Given the description of an element on the screen output the (x, y) to click on. 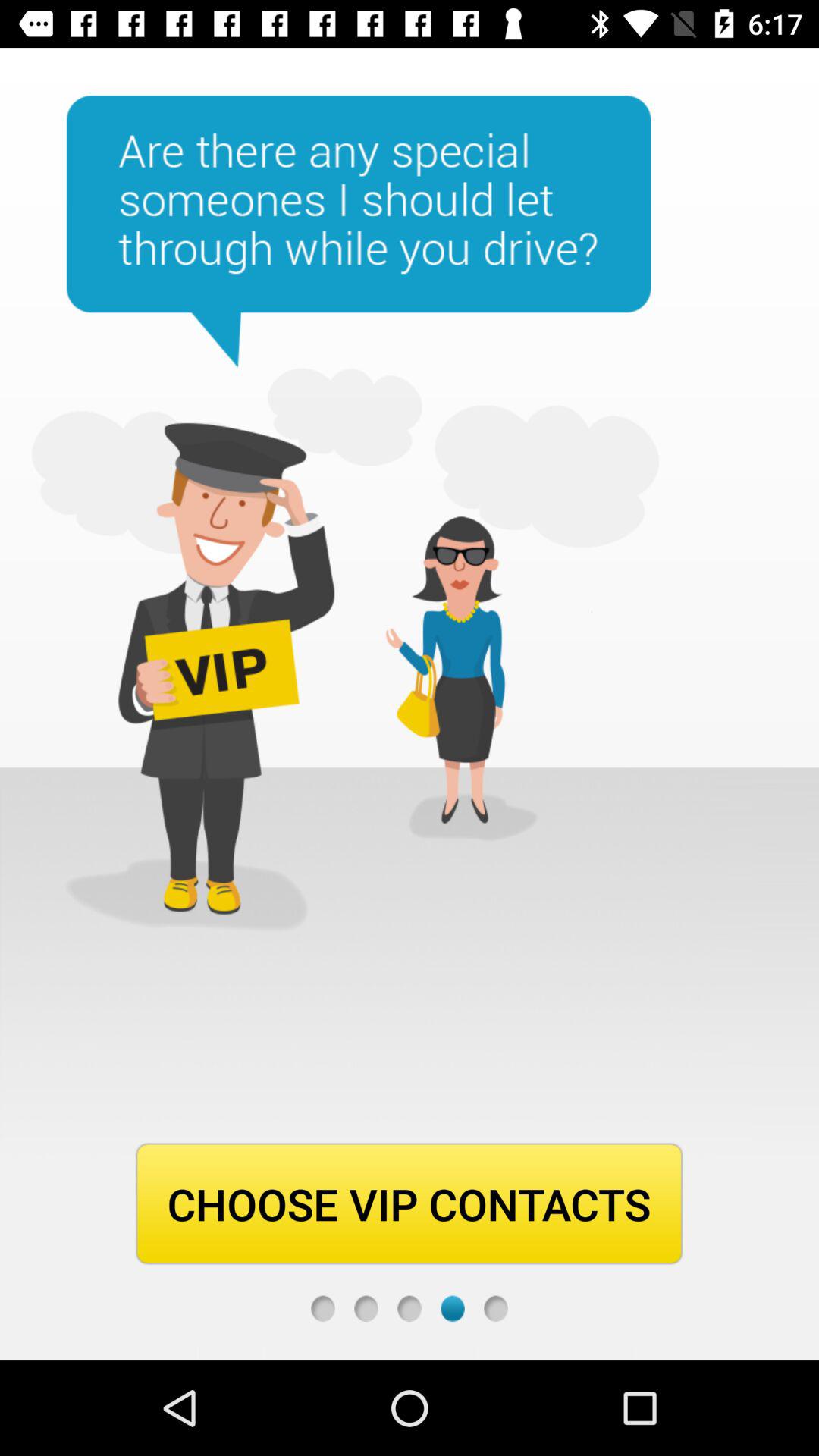
choose vip contacts (322, 1308)
